Given the description of an element on the screen output the (x, y) to click on. 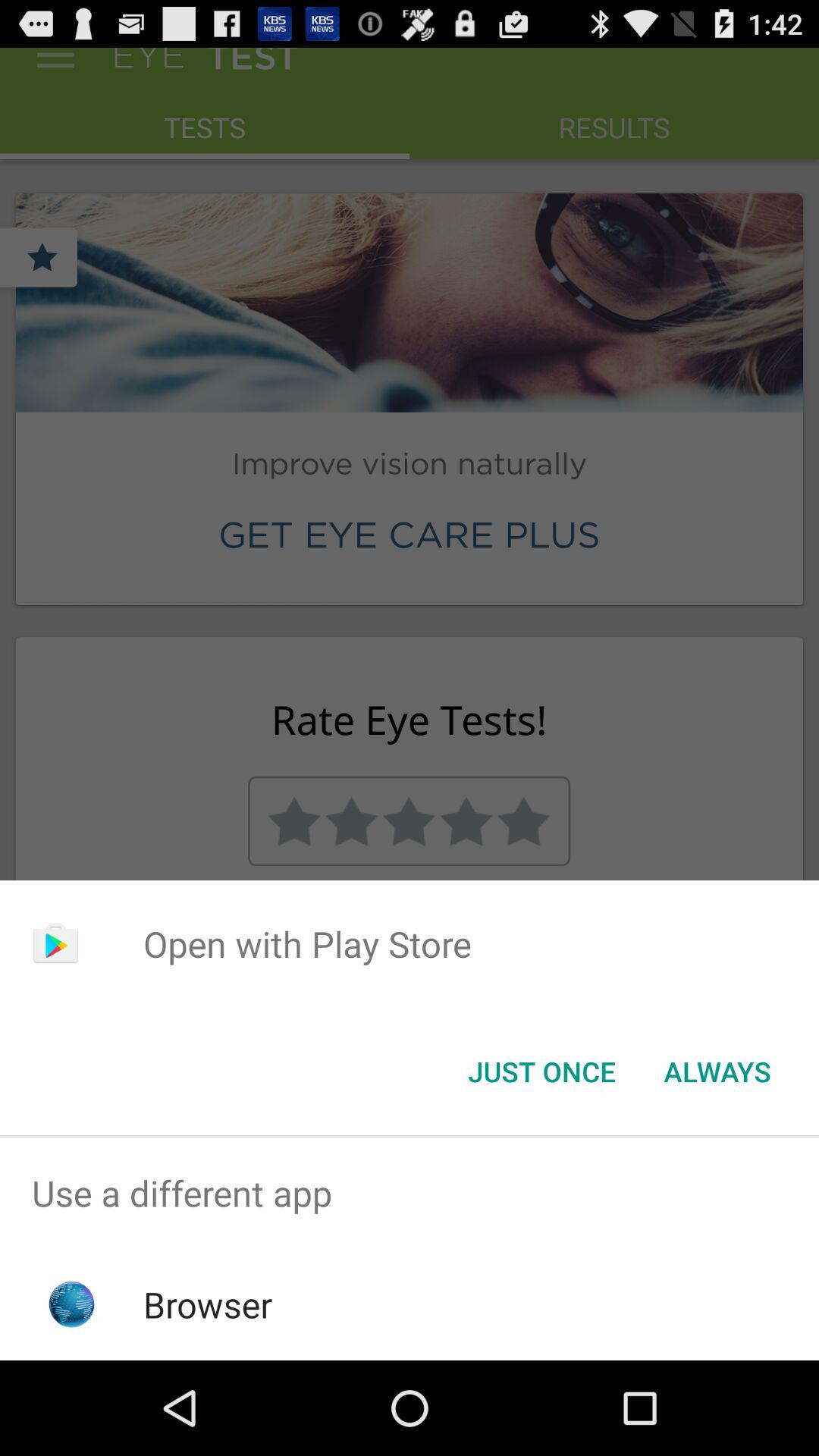
choose icon next to the just once icon (717, 1071)
